Given the description of an element on the screen output the (x, y) to click on. 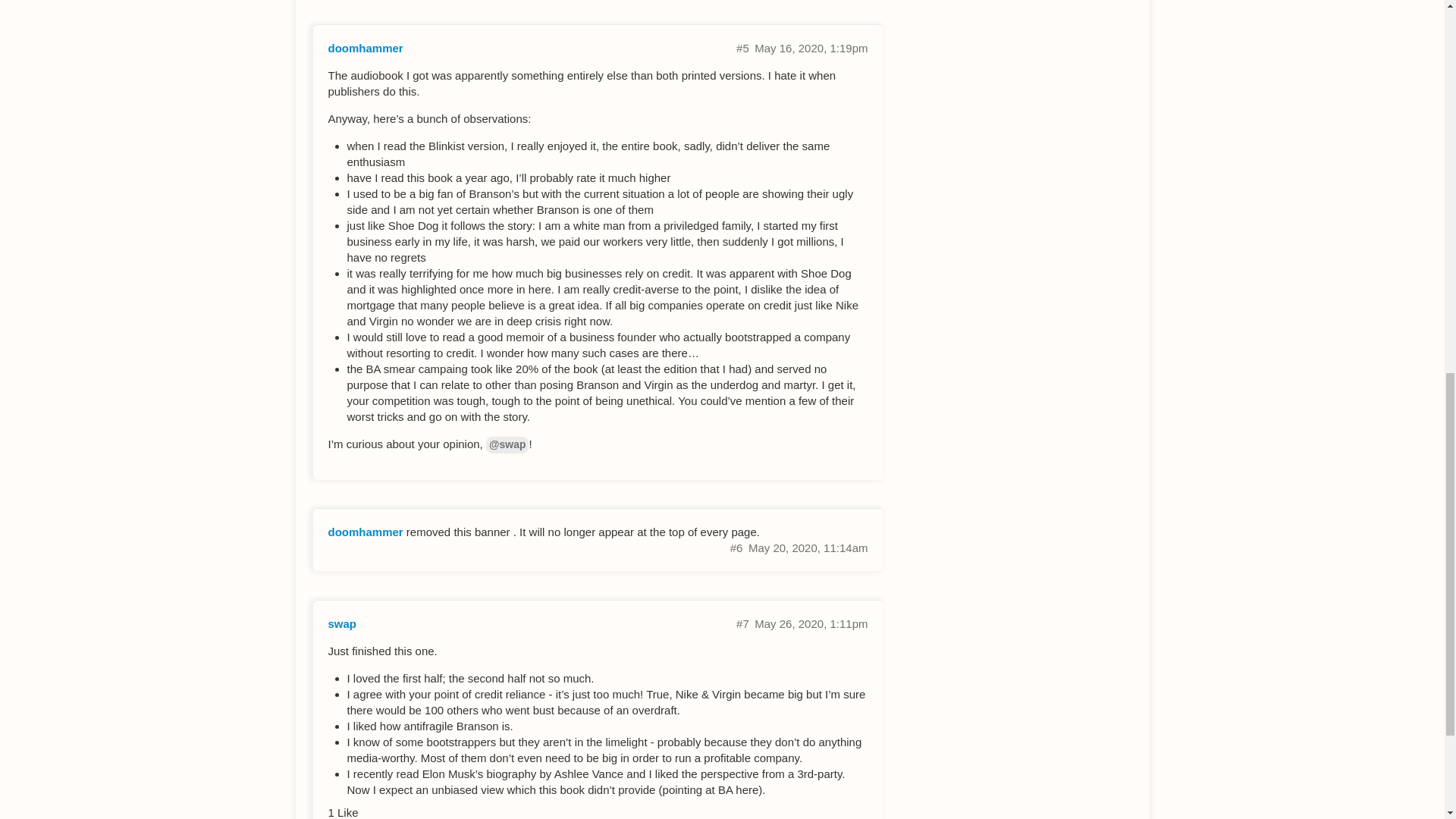
swap (341, 623)
doomhammer (365, 531)
doomhammer (365, 47)
